Given the description of an element on the screen output the (x, y) to click on. 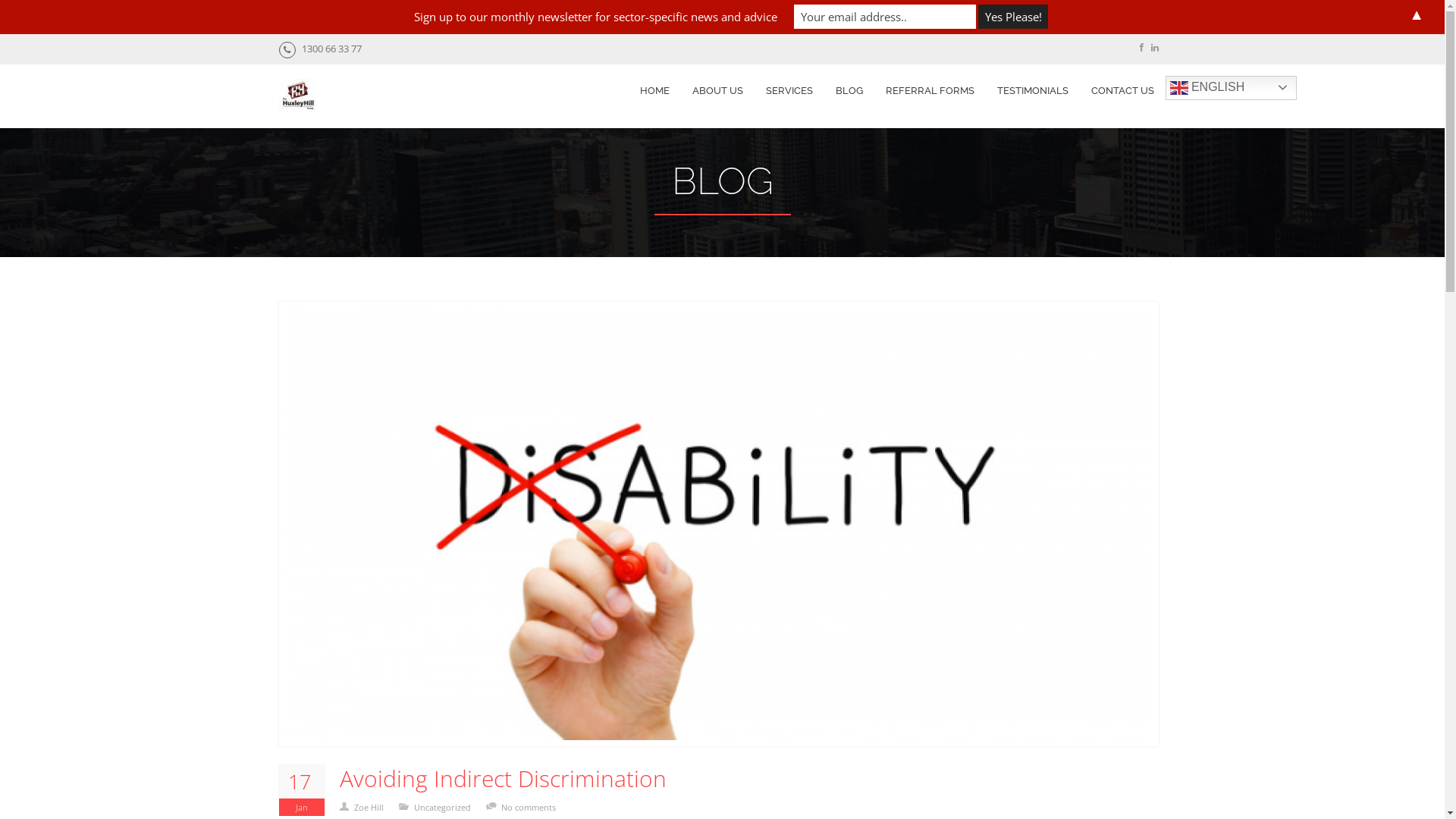
Facebook Element type: hover (1140, 46)
CONTACT US Element type: text (1122, 90)
No comments Element type: text (534, 806)
Uncategorized Element type: text (449, 806)
The Huxley Hill Group Element type: hover (297, 97)
ENGLISH Element type: text (1229, 87)
HOME Element type: text (653, 90)
17
Jan Element type: text (301, 789)
Yes Please! Element type: text (1013, 16)
REFERRAL FORMS Element type: text (929, 90)
Avoiding Indirect Discrimination Element type: text (502, 778)
TESTIMONIALS Element type: text (1032, 90)
LinkedIn Element type: hover (1154, 46)
SERVICES Element type: text (788, 90)
ABOUT US Element type: text (717, 90)
Zoe Hill Element type: text (374, 806)
BLOG Element type: text (848, 90)
